Given the description of an element on the screen output the (x, y) to click on. 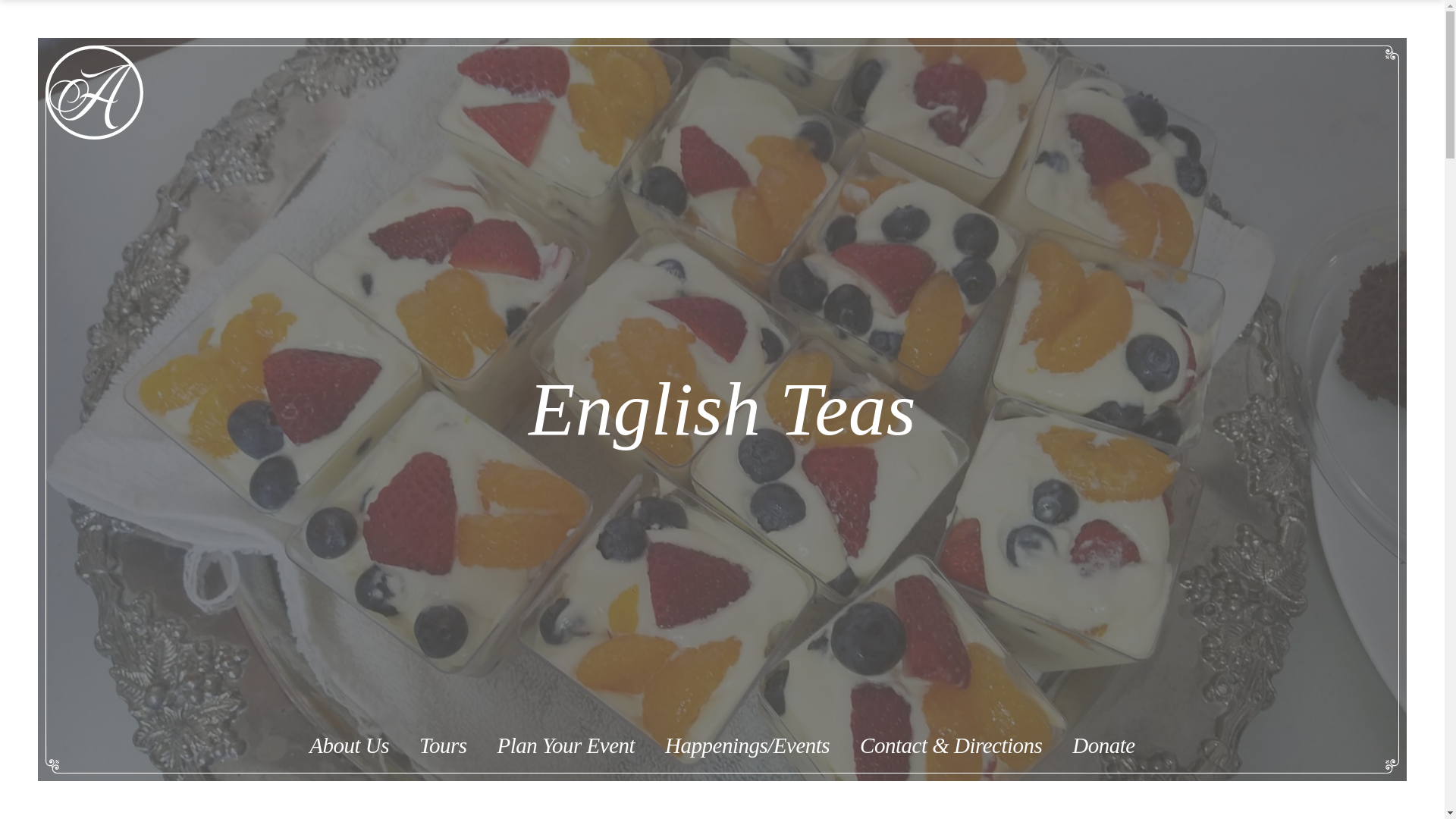
Adaland Mansion (93, 92)
Donate (1102, 745)
About Us (348, 745)
Adaland Mansion (93, 92)
Tours (443, 745)
Search (916, 104)
Plan Your Event (565, 745)
